Given the description of an element on the screen output the (x, y) to click on. 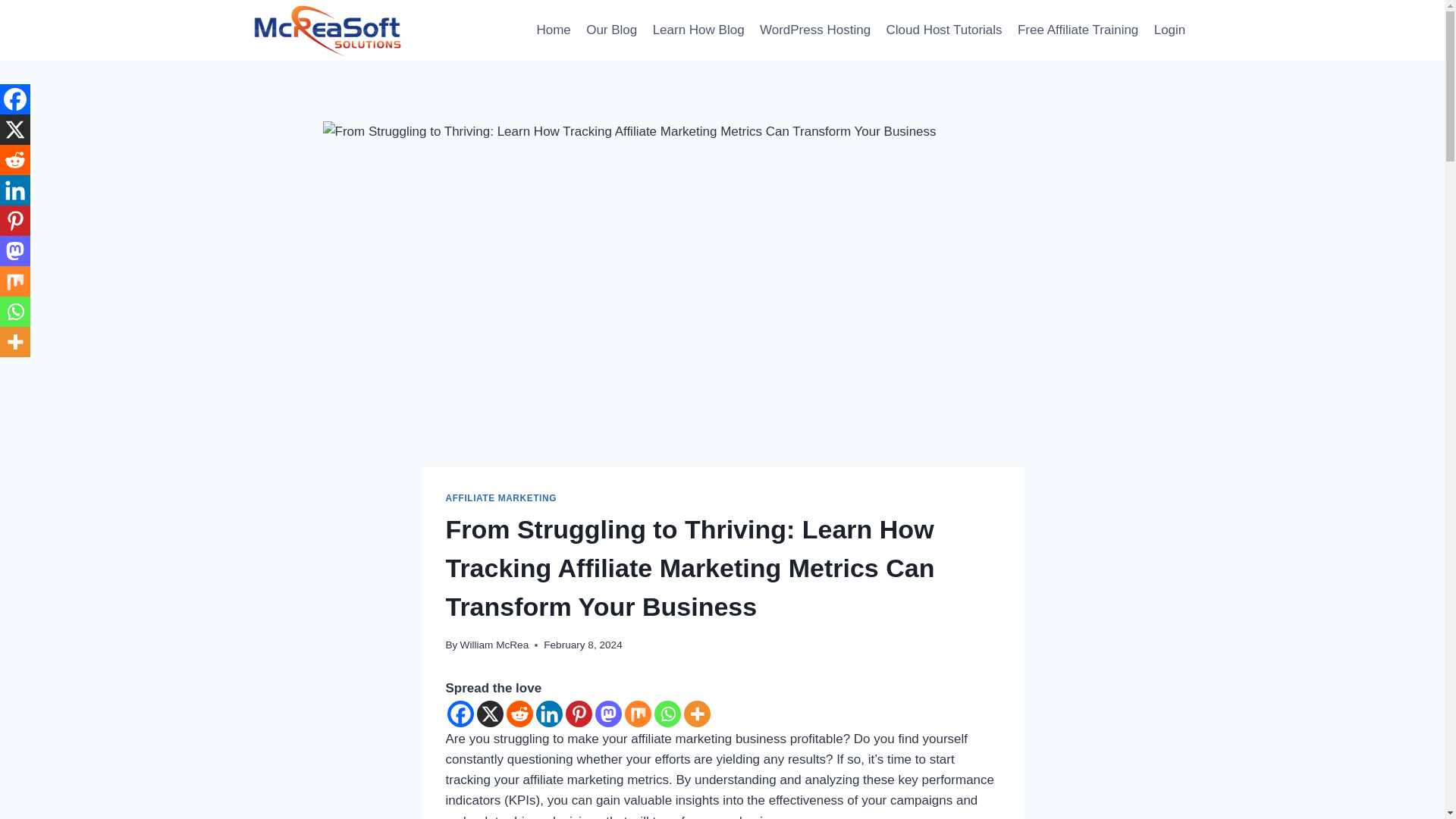
Home (553, 30)
AFFILIATE MARKETING (501, 498)
Facebook (460, 714)
More (697, 714)
Linkedin (548, 714)
X (15, 129)
Login (1170, 30)
Mastodon (607, 714)
Whatsapp (666, 714)
WordPress Hosting (815, 30)
Pinterest (579, 714)
Free Affiliate Training (1078, 30)
William McRea (494, 644)
Reddit (519, 714)
Reddit (15, 159)
